Given the description of an element on the screen output the (x, y) to click on. 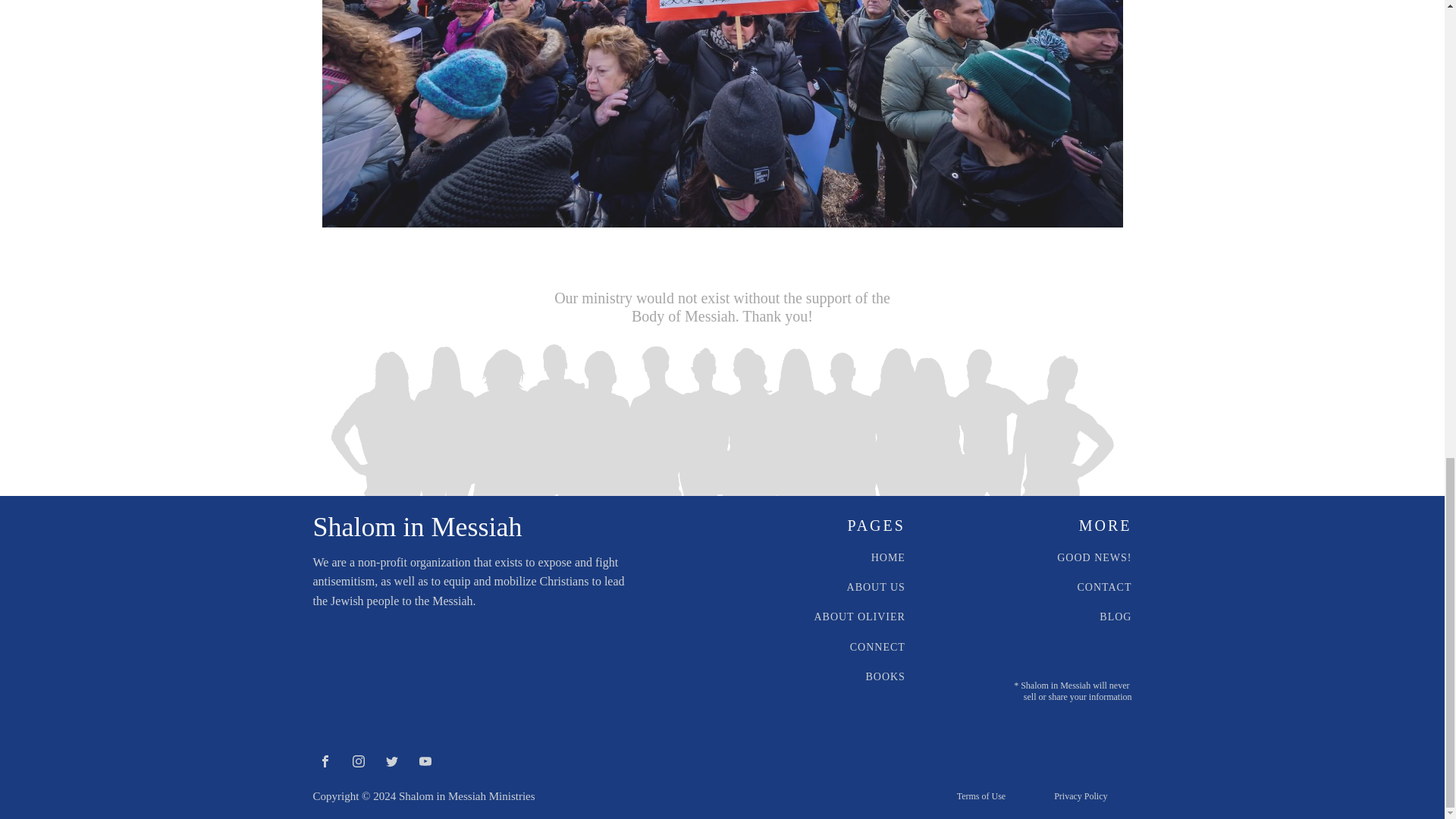
Terms of Use (981, 796)
BLOG (1115, 616)
ABOUT US (876, 586)
Privacy Policy (1080, 796)
CONNECT (877, 646)
Shalom in Messiah (417, 527)
HOME (887, 557)
GOOD NEWS! (1094, 557)
BOOKS (884, 676)
ABOUT OLIVIER (858, 616)
CONTACT (1104, 586)
